Given the description of an element on the screen output the (x, y) to click on. 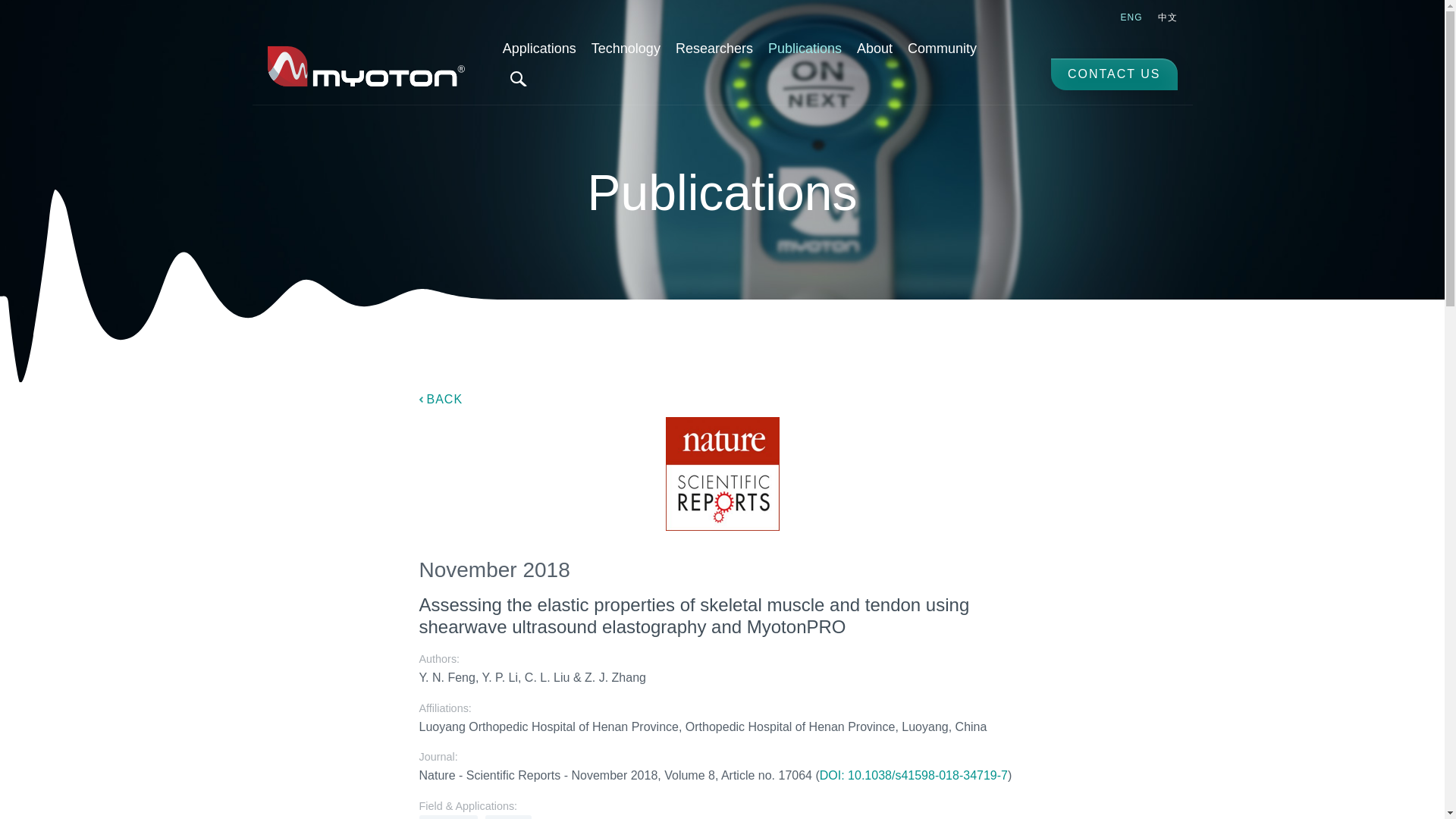
About (873, 48)
ENG (1131, 17)
Technology (625, 48)
Validity (507, 816)
Reliability (448, 816)
CONTACT US (1114, 74)
Publications (804, 48)
Community (941, 48)
Eng (1131, 17)
Applications (539, 48)
Researchers (714, 48)
Myoton (365, 65)
Contact us (1114, 74)
BACK (441, 399)
